Given the description of an element on the screen output the (x, y) to click on. 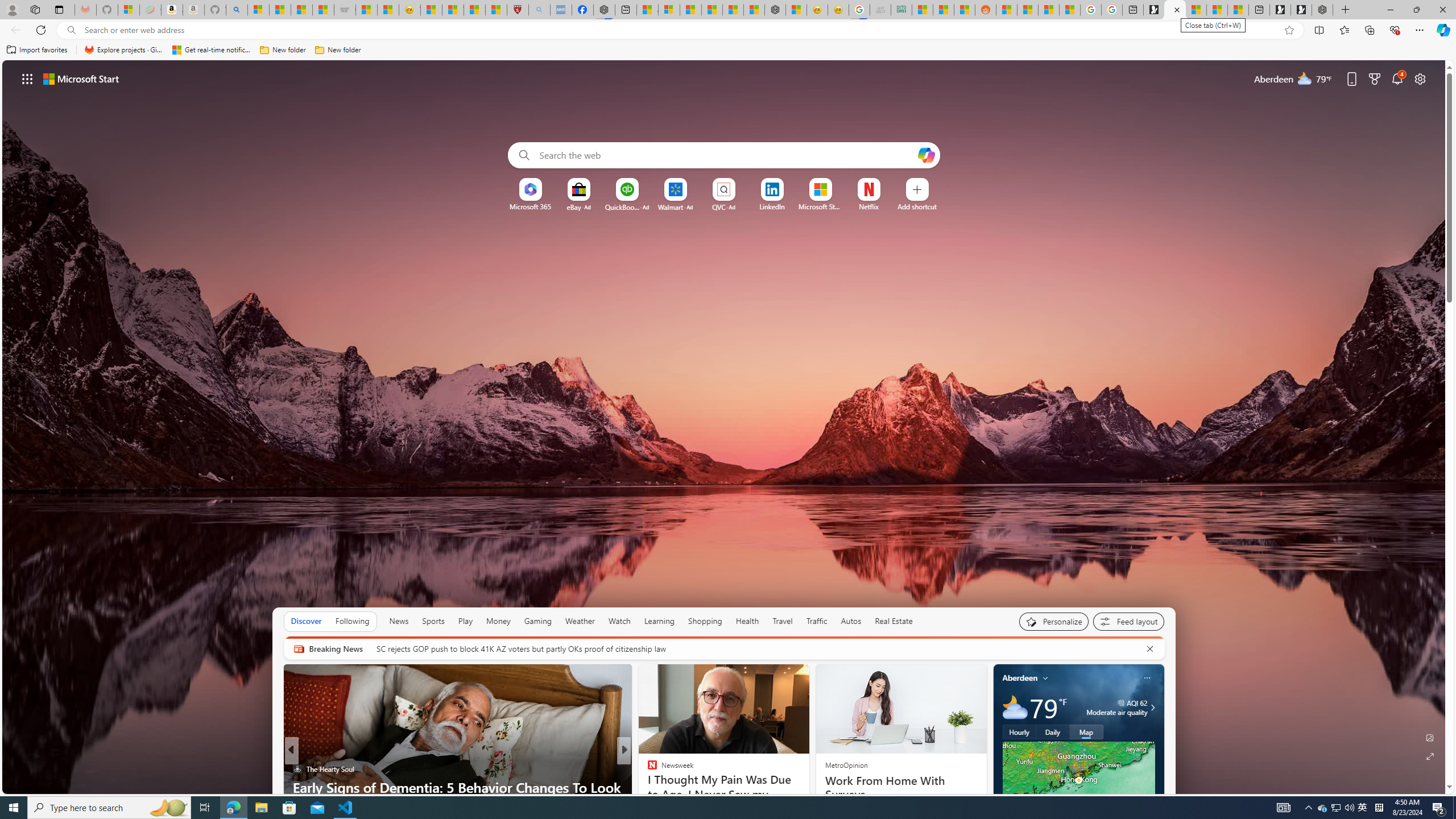
5 Workouts You Should Be Doing Regularly in Your 60s (807, 796)
Yumophile (647, 786)
App launcher (27, 78)
Larger map  (1077, 780)
